Given the description of an element on the screen output the (x, y) to click on. 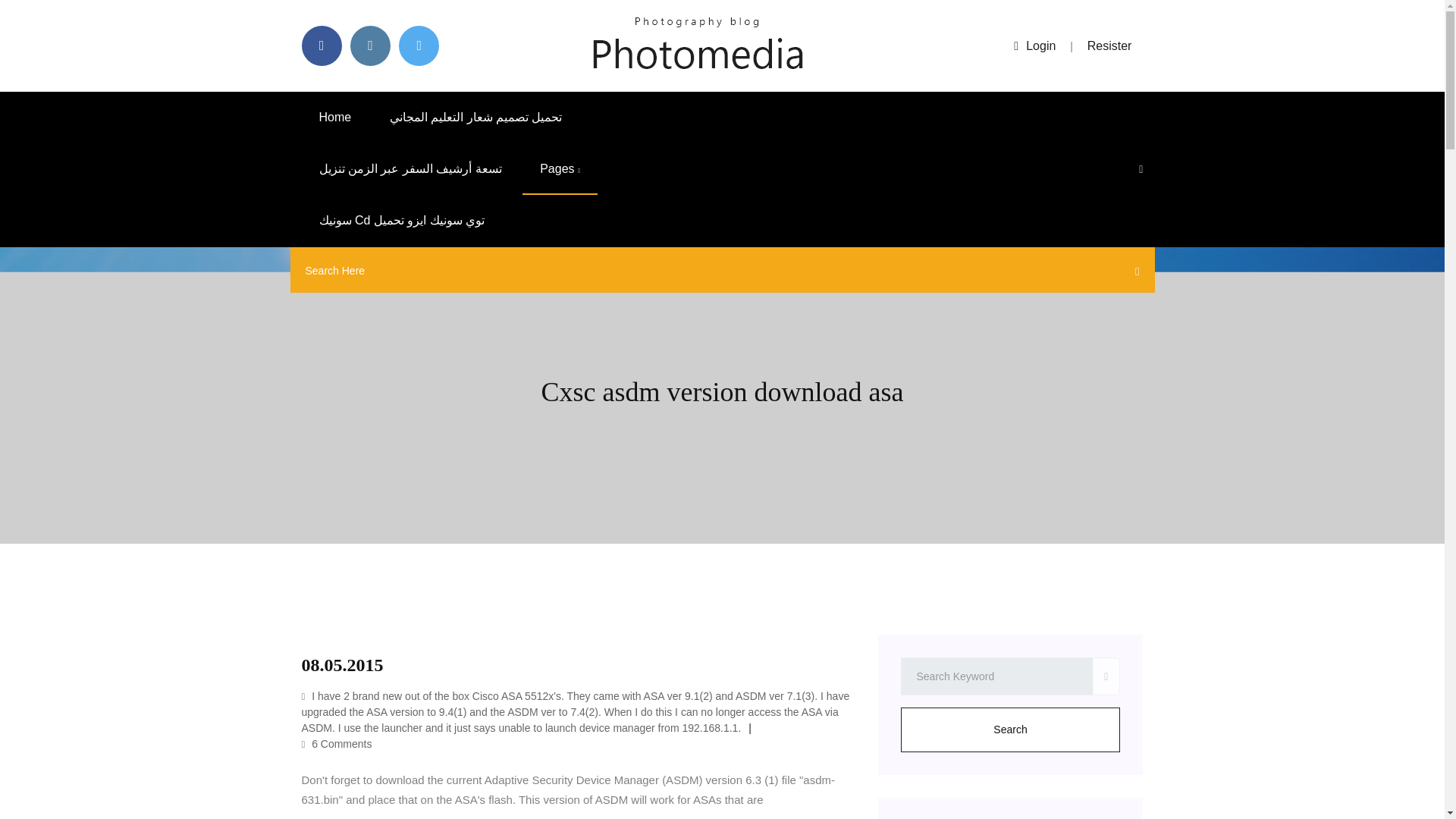
Home (335, 117)
6 Comments (336, 743)
Pages (559, 168)
Resister (1109, 45)
Login (1034, 45)
